Given the description of an element on the screen output the (x, y) to click on. 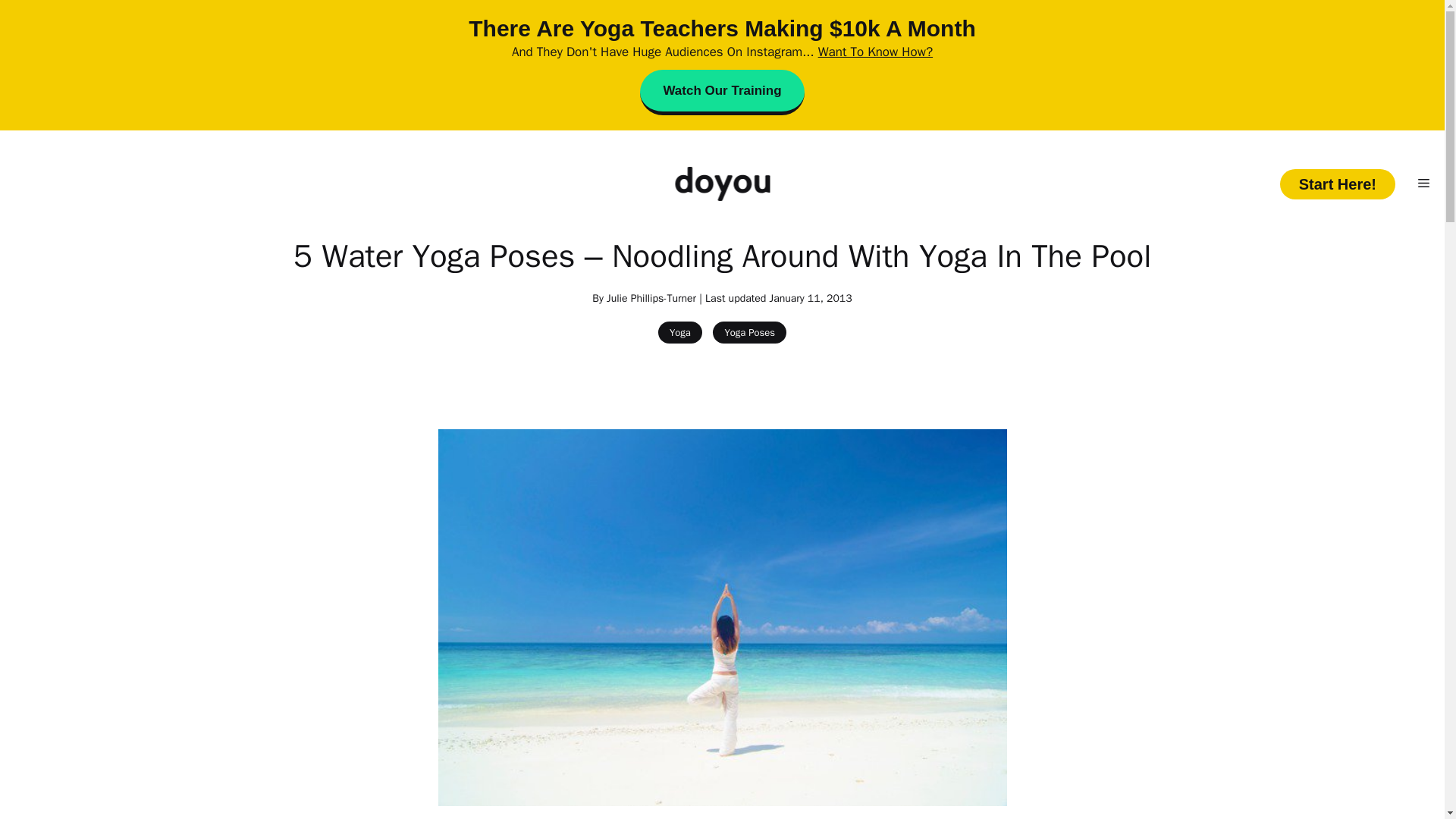
DoYou (722, 183)
Start Here! (1336, 183)
Julie Phillips-Turner (651, 297)
Yoga Poses (749, 332)
Posts by Julie Phillips-Turner (651, 297)
Watch Our Training (721, 92)
Yoga (679, 332)
